Given the description of an element on the screen output the (x, y) to click on. 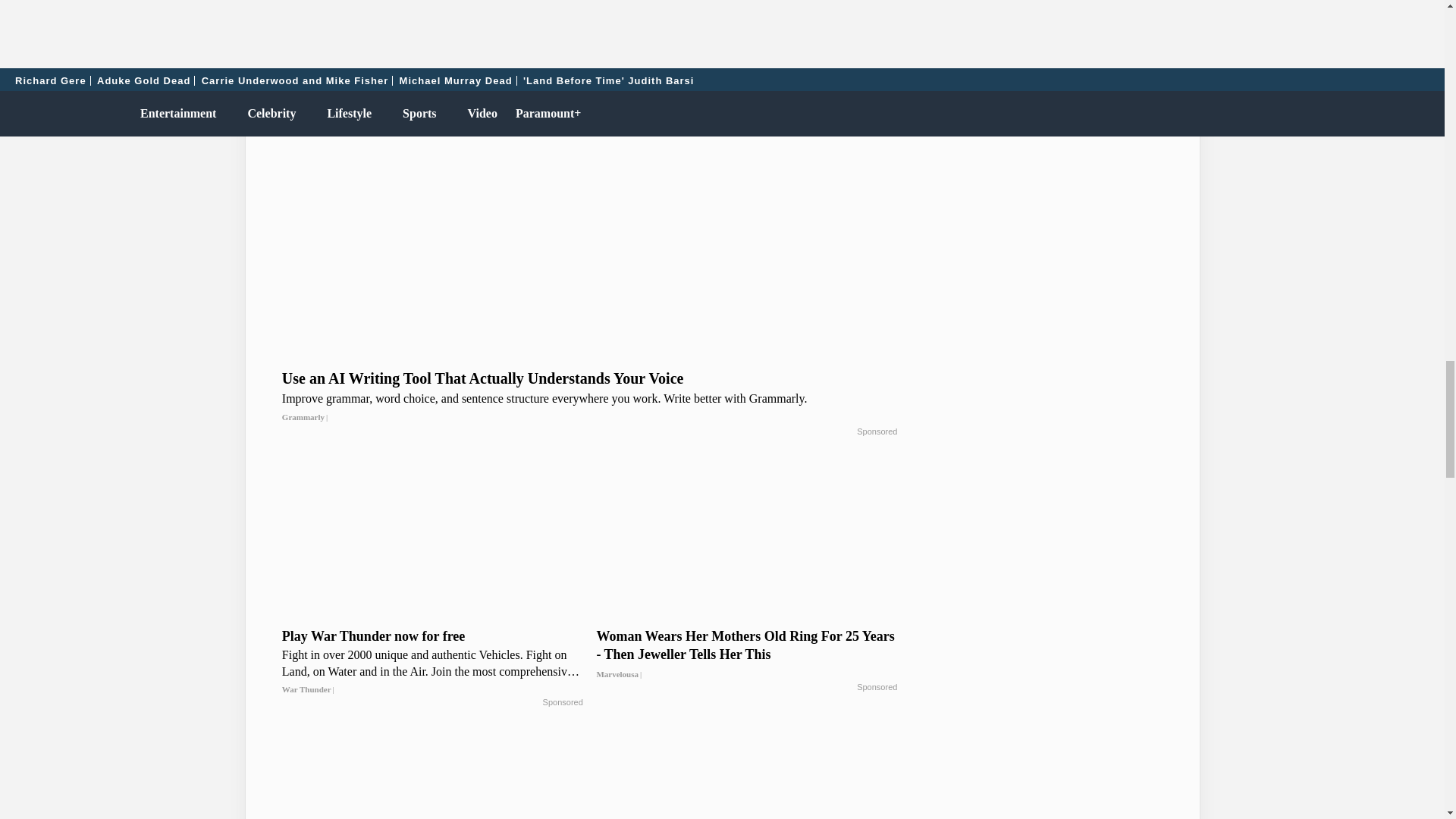
Play War Thunder now for free (432, 662)
Cher's Son Is Probably The Most Handsome Man To Ever Exist (432, 15)
Use an AI Writing Tool That Actually Understands Your Voice (590, 397)
